Given the description of an element on the screen output the (x, y) to click on. 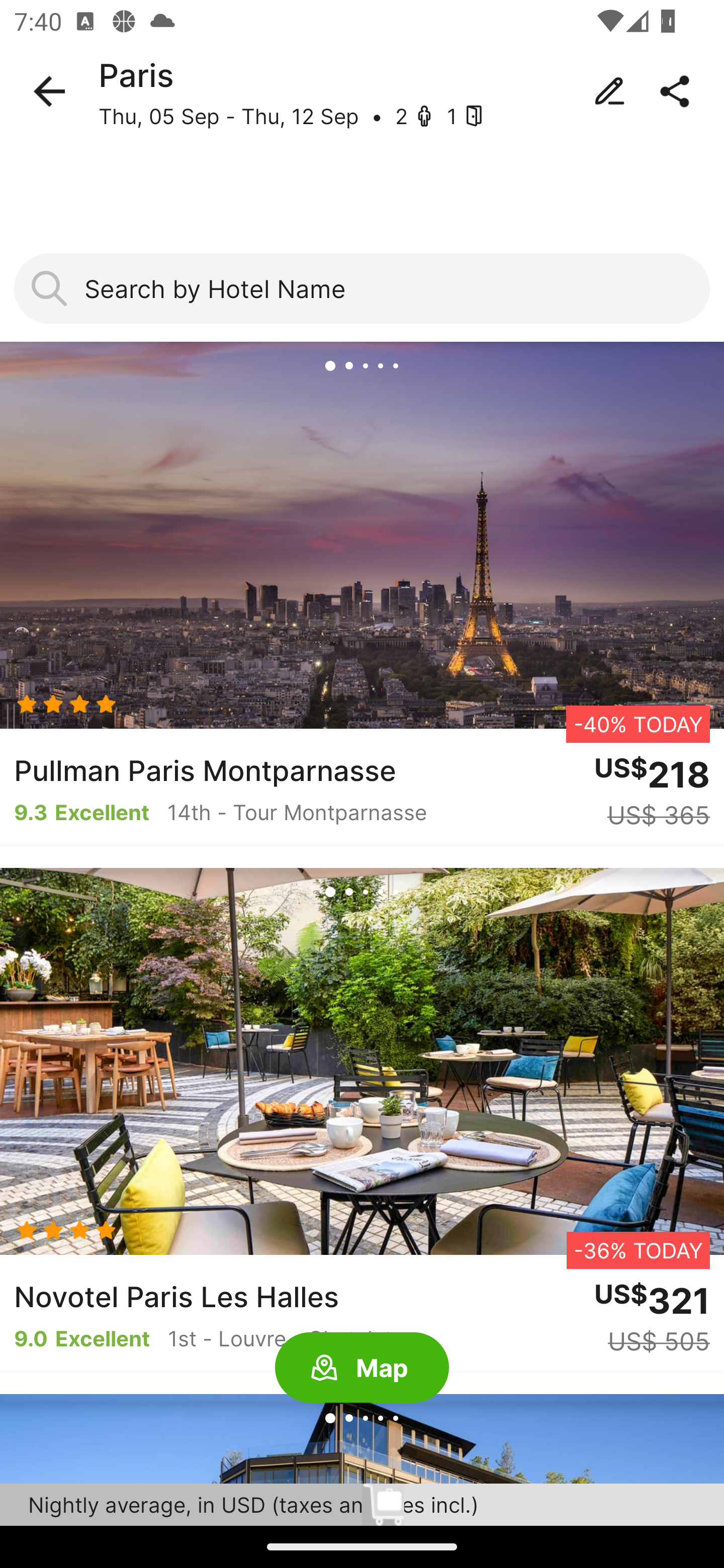
Paris Thu, 05 Sep - Thu, 12 Sep  •  2 -  1 - (361, 91)
Search by Hotel Name  (361, 288)
Map  (361, 1367)
